Given the description of an element on the screen output the (x, y) to click on. 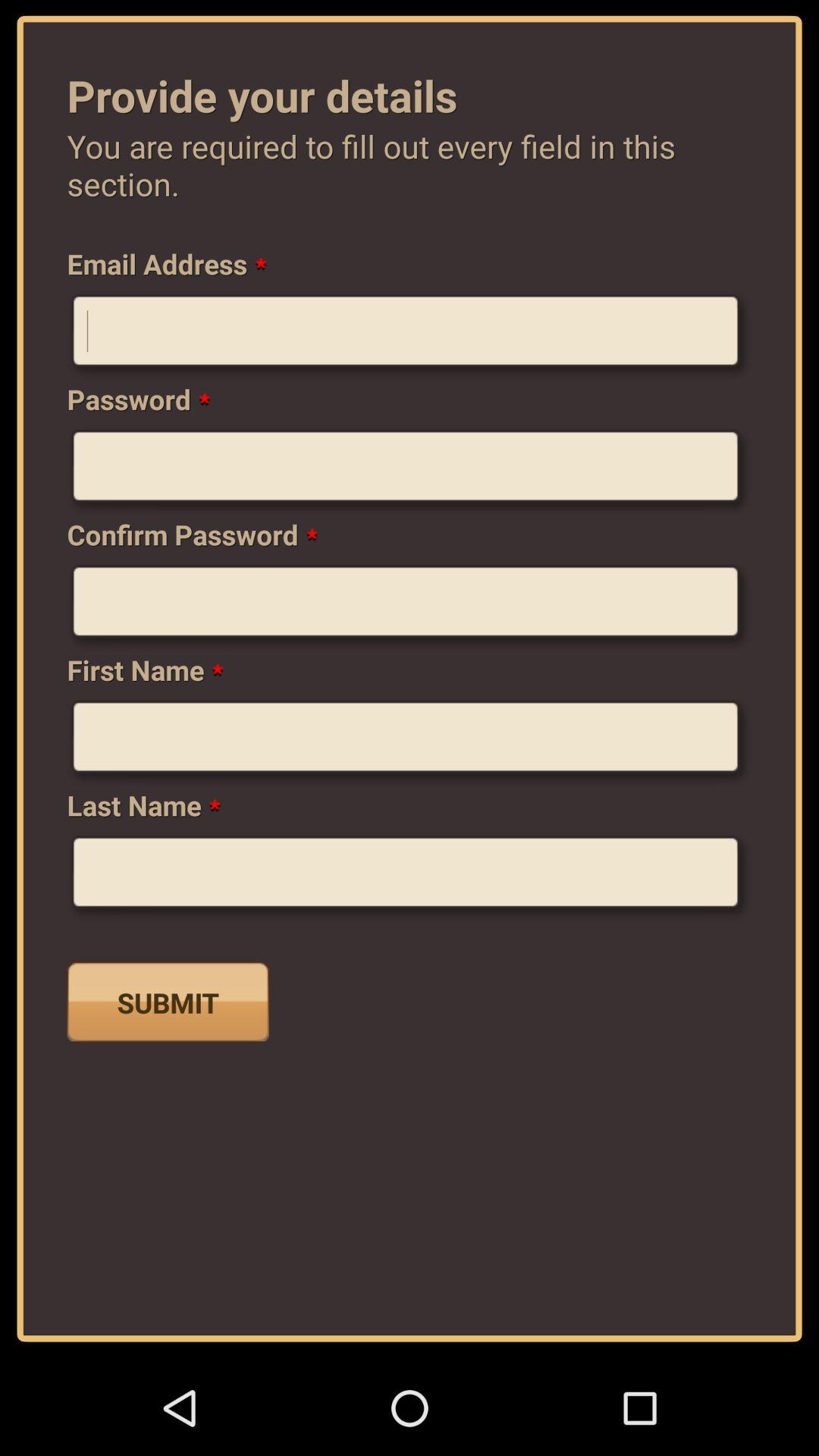
enter your first name (409, 742)
